Given the description of an element on the screen output the (x, y) to click on. 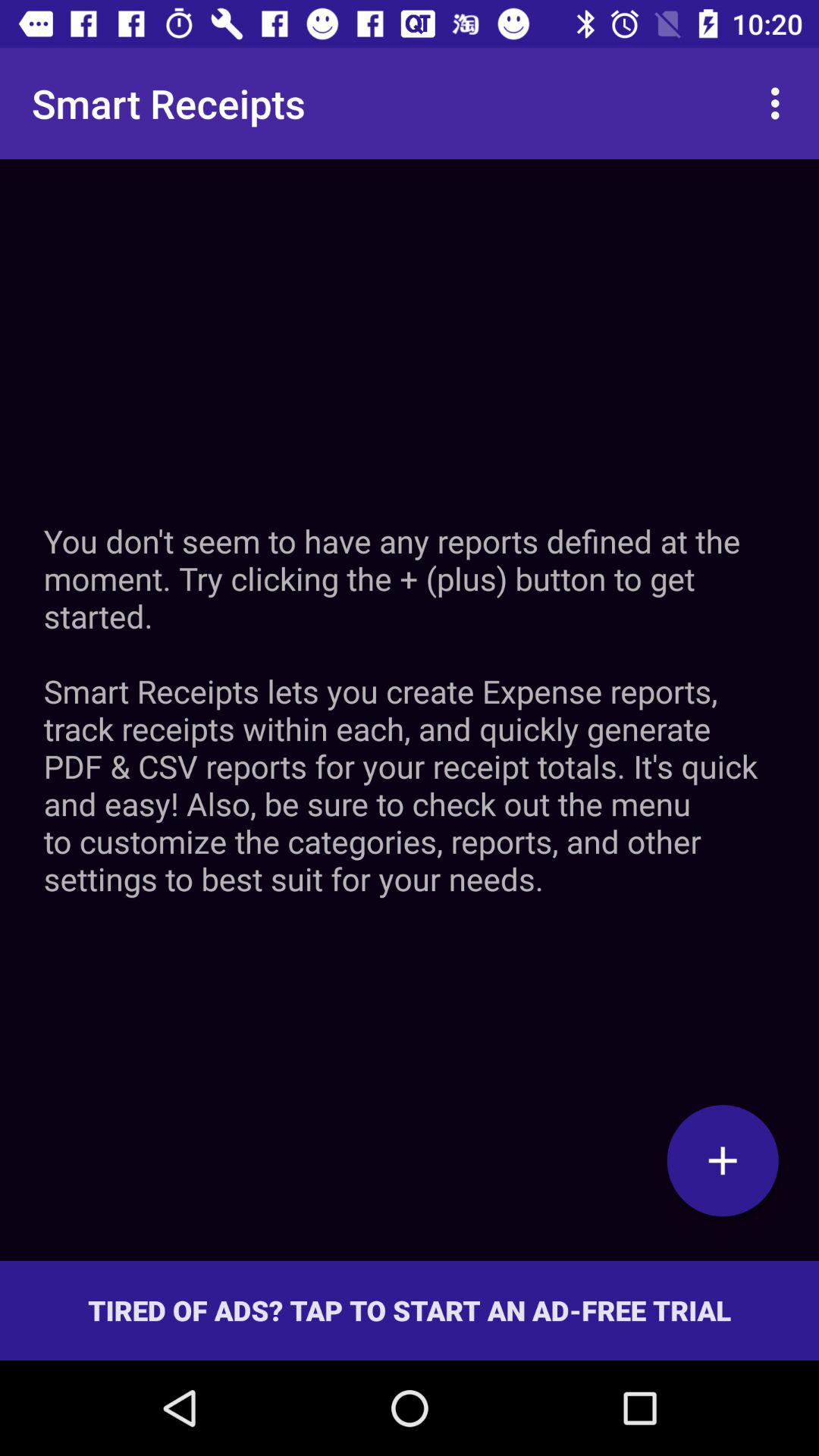
flip until the tired of ads icon (409, 1310)
